Given the description of an element on the screen output the (x, y) to click on. 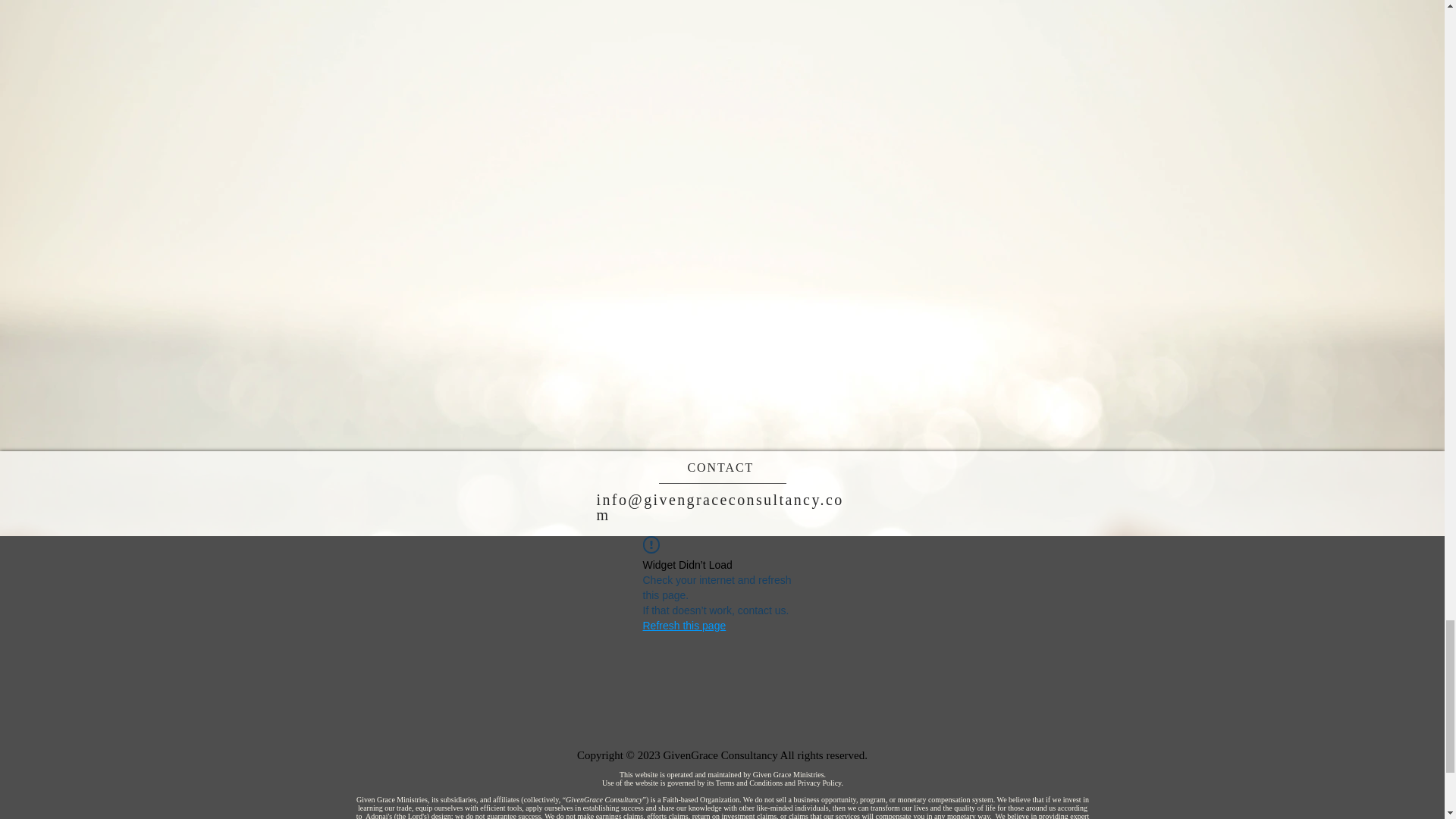
Refresh this page (684, 625)
